Given the description of an element on the screen output the (x, y) to click on. 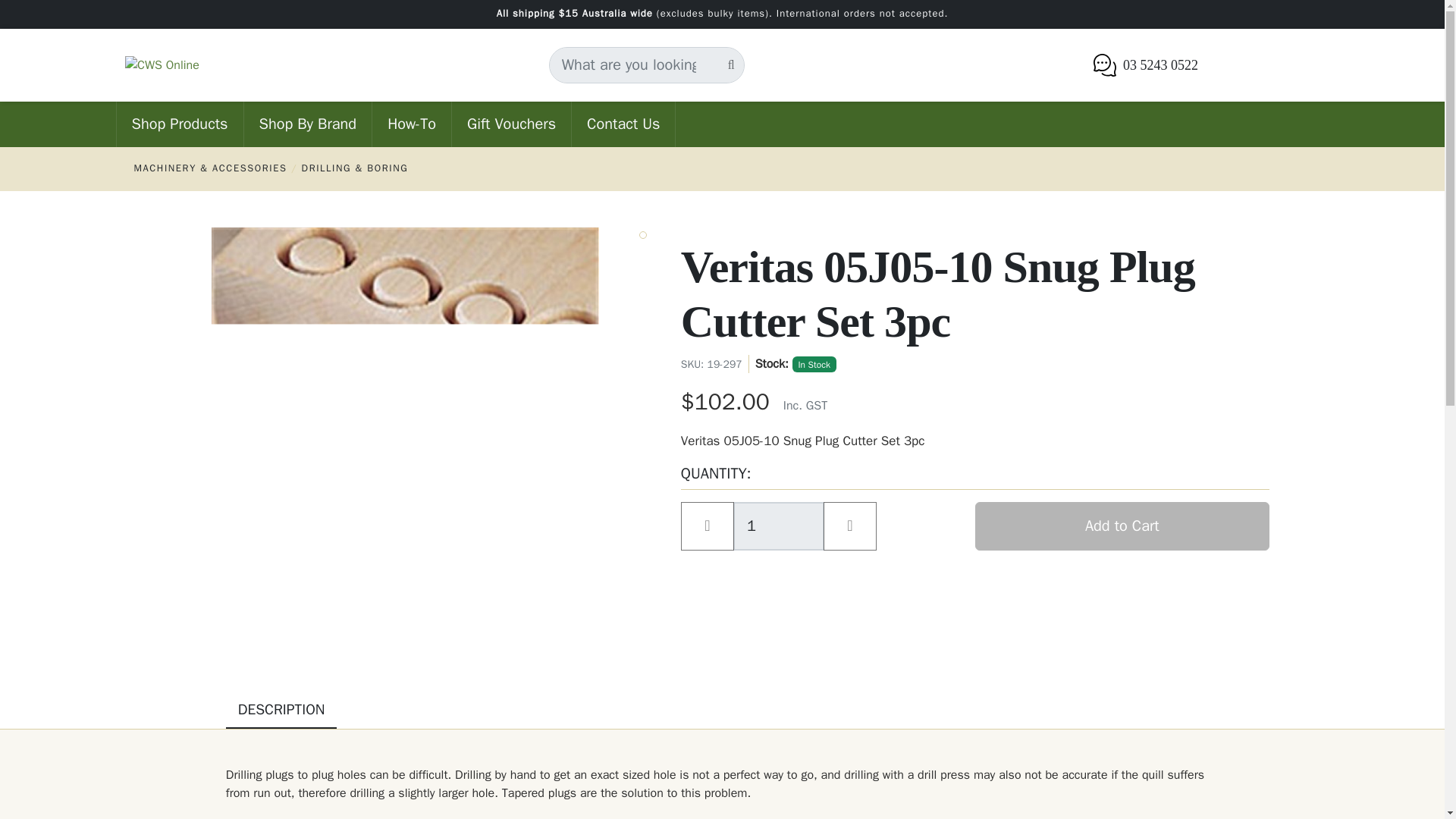
1 (778, 526)
 03 5243 0522 (1145, 65)
Shop Products (179, 123)
